Given the description of an element on the screen output the (x, y) to click on. 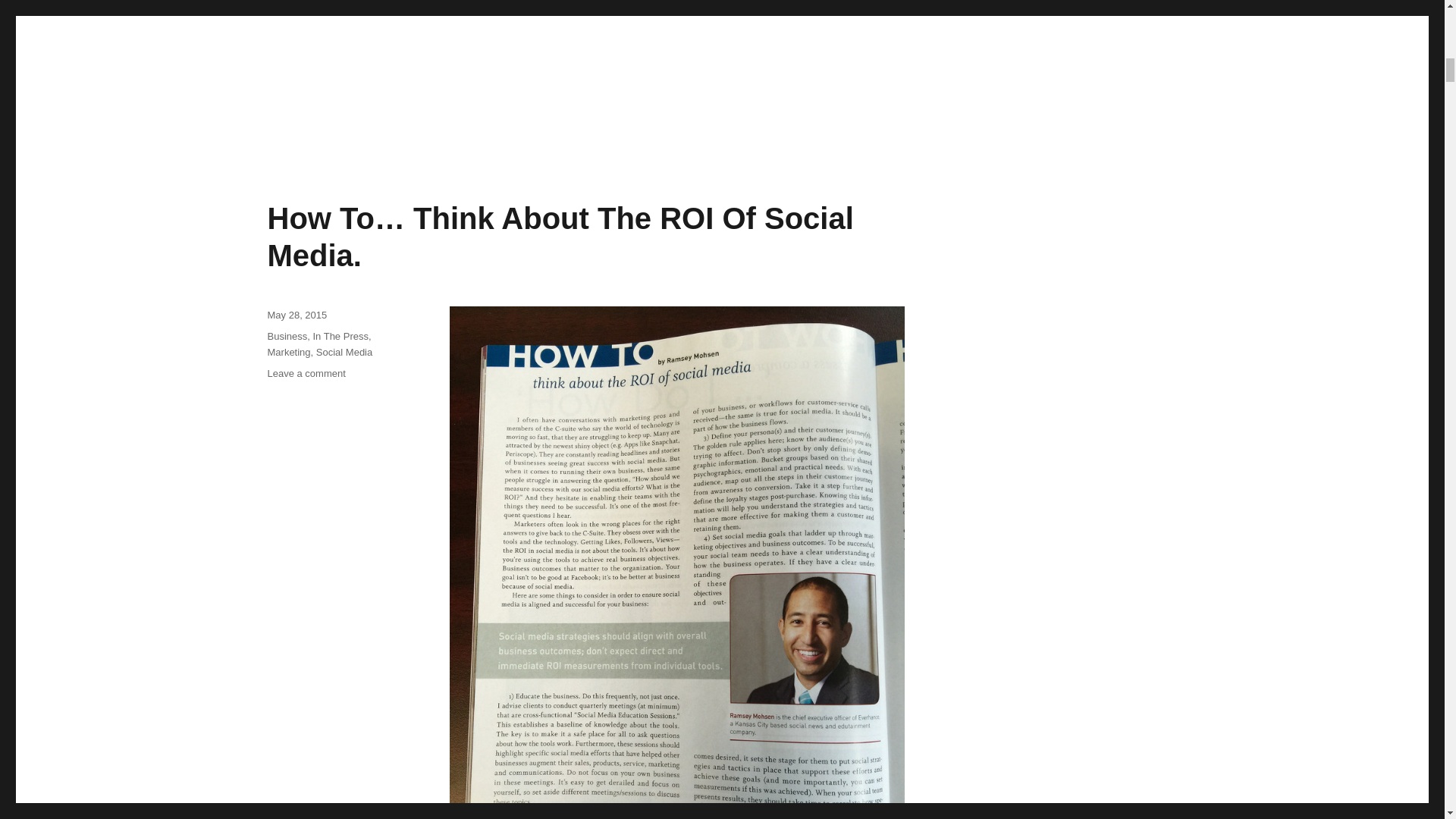
Social Media (343, 351)
In The Press (340, 336)
Business (286, 336)
May 28, 2015 (296, 315)
Marketing (288, 351)
